Given the description of an element on the screen output the (x, y) to click on. 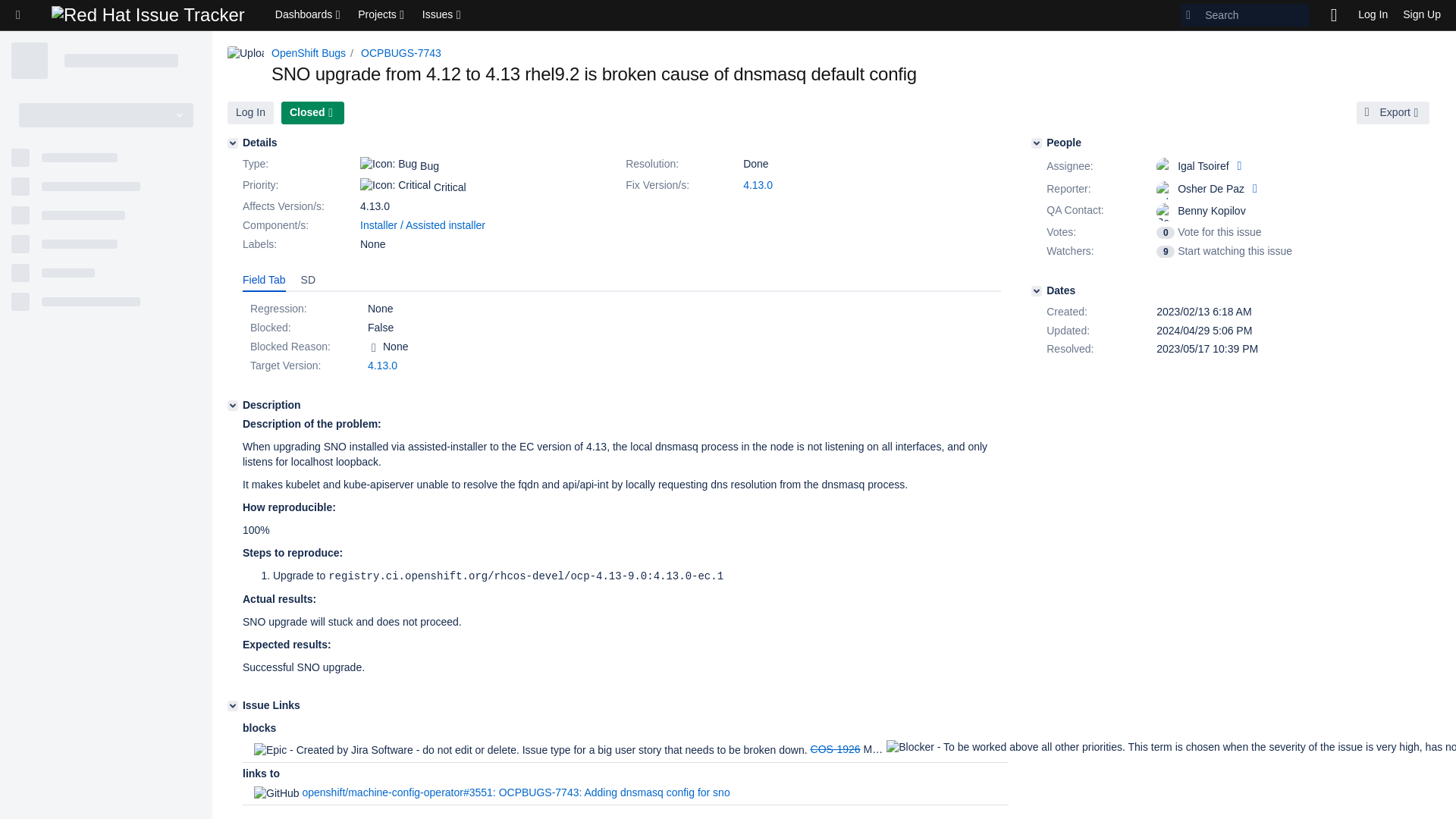
Export this issue in another format (1392, 112)
Projects (382, 15)
SD (308, 280)
Priority (299, 185)
4.13.0 (757, 184)
COS-1926 (835, 748)
OpenShift Bugs (308, 52)
Search for issues and view recent issues (442, 15)
People (1036, 143)
Export (1392, 112)
View recent projects and browse a list of projects (382, 15)
Help (1334, 15)
Resolution (682, 164)
Sign Up (1421, 15)
